Given the description of an element on the screen output the (x, y) to click on. 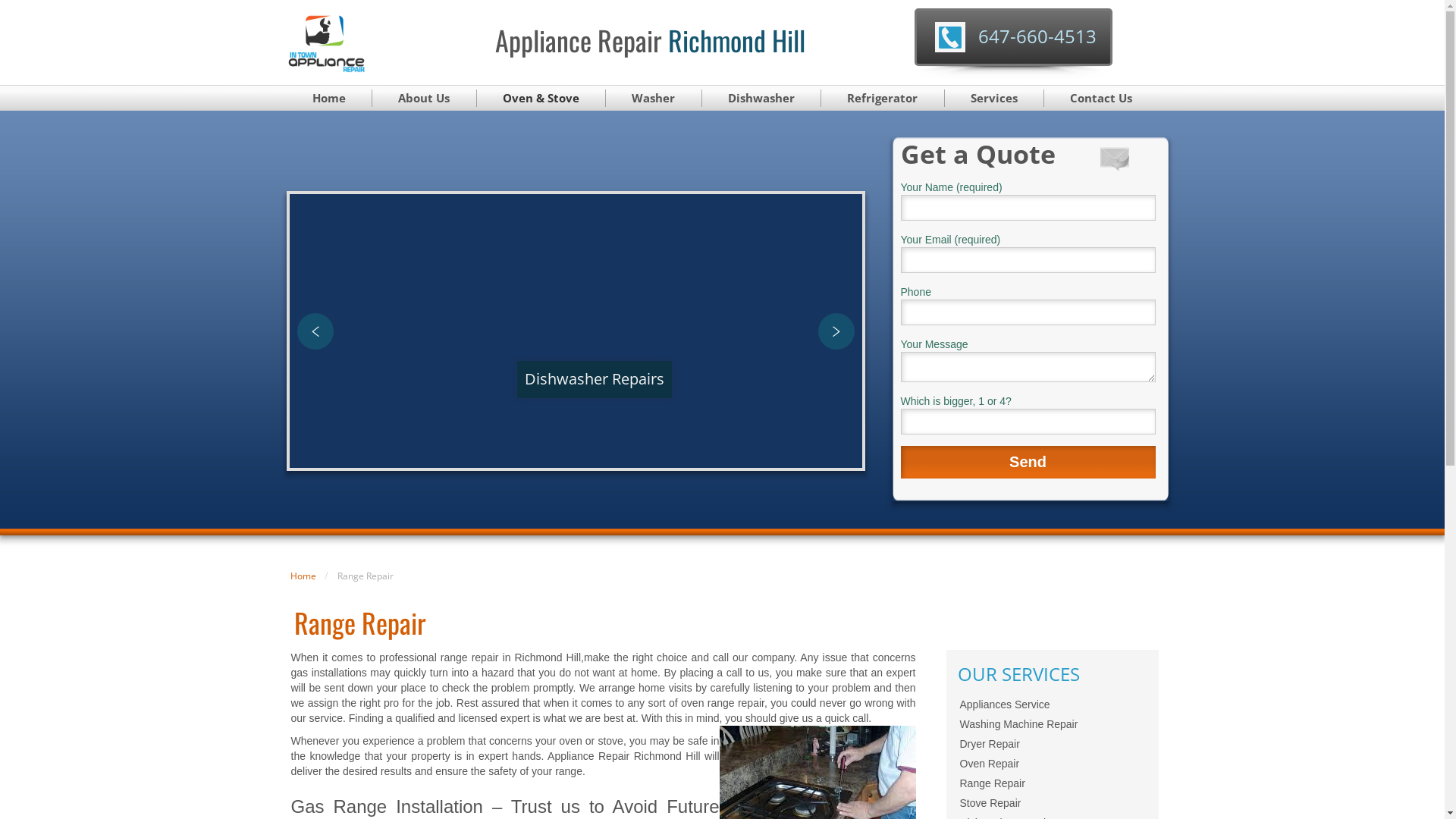
Contact Us Element type: text (1101, 97)
Home Element type: text (329, 97)
Services Element type: text (994, 97)
Refrigerator Element type: text (882, 97)
About Us Element type: text (424, 97)
Appliances Service Element type: text (1051, 704)
Send Element type: text (1027, 461)
Washer Element type: text (653, 97)
647-660-4513 Element type: text (1037, 35)
Range Repair Element type: text (1051, 783)
Stove Repair Element type: text (1051, 802)
Washing Machine Repair Element type: text (1051, 724)
Oven Repair Element type: text (1051, 763)
Oven & Stove Element type: text (540, 97)
Dryer Repair Element type: text (1051, 743)
Home Element type: text (302, 575)
Dishwasher Element type: text (762, 97)
